Given the description of an element on the screen output the (x, y) to click on. 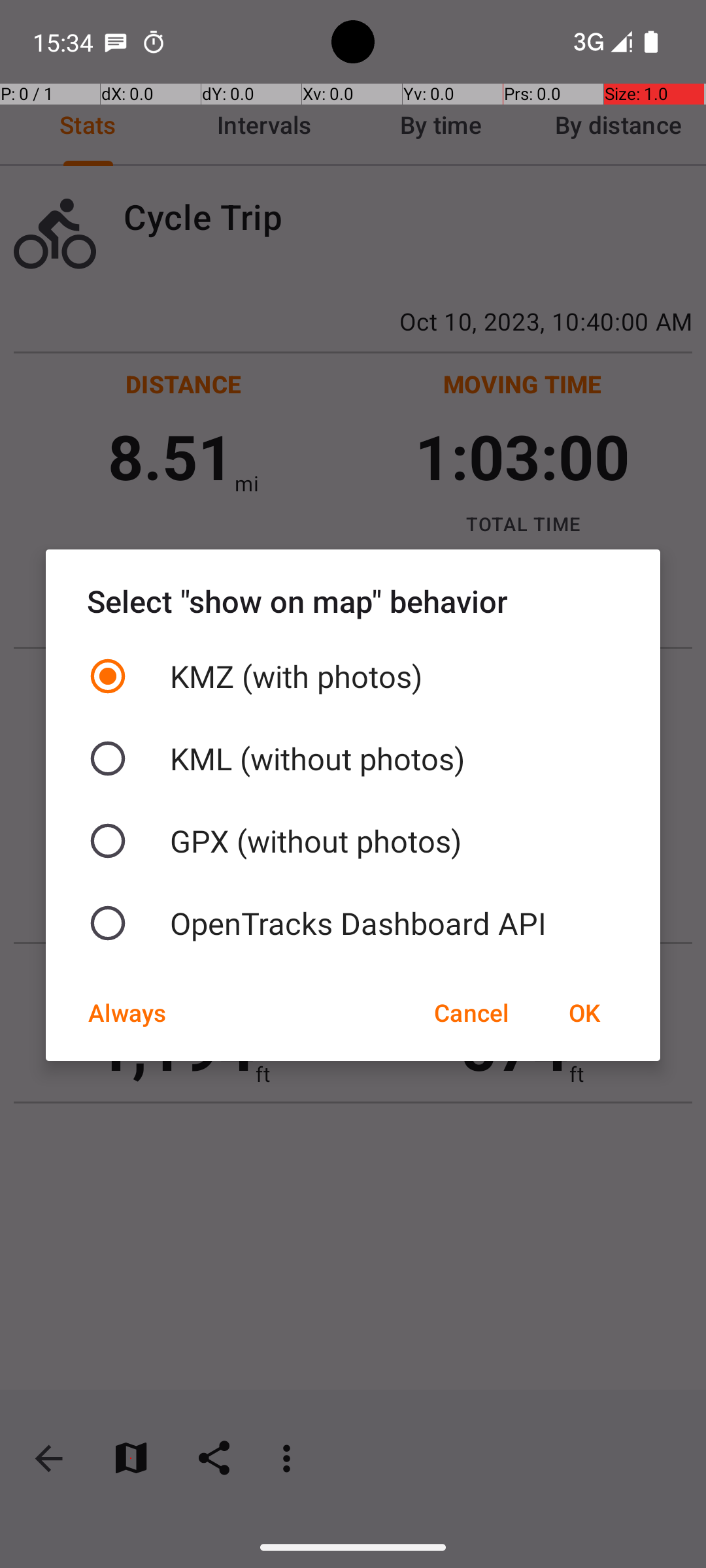
Select "show on map" behavior Element type: android.widget.TextView (352, 600)
KMZ (with photos) Element type: android.widget.CheckedTextView (352, 676)
KML (without photos) Element type: android.widget.CheckedTextView (352, 758)
GPX (without photos) Element type: android.widget.CheckedTextView (352, 840)
OpenTracks Dashboard API Element type: android.widget.CheckedTextView (352, 923)
